Given the description of an element on the screen output the (x, y) to click on. 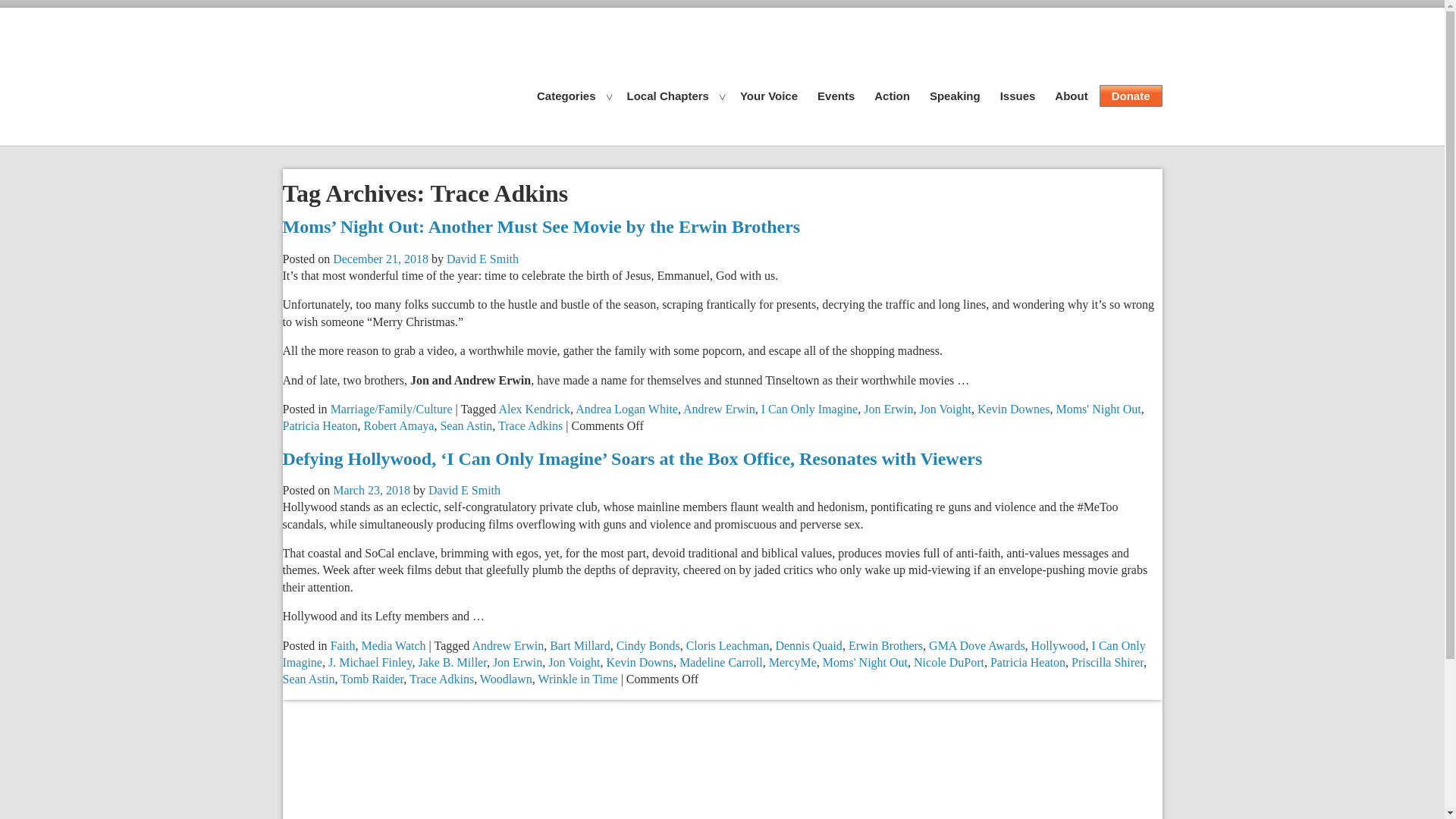
Alex Kendrick (533, 408)
View all posts by David E Smith (482, 258)
Speaking (954, 96)
About (1071, 96)
Action (892, 96)
Local Chapters (667, 96)
Andrea Logan White (626, 408)
3:00 PM (380, 258)
Donate (1130, 96)
Issues (1017, 96)
